Given the description of an element on the screen output the (x, y) to click on. 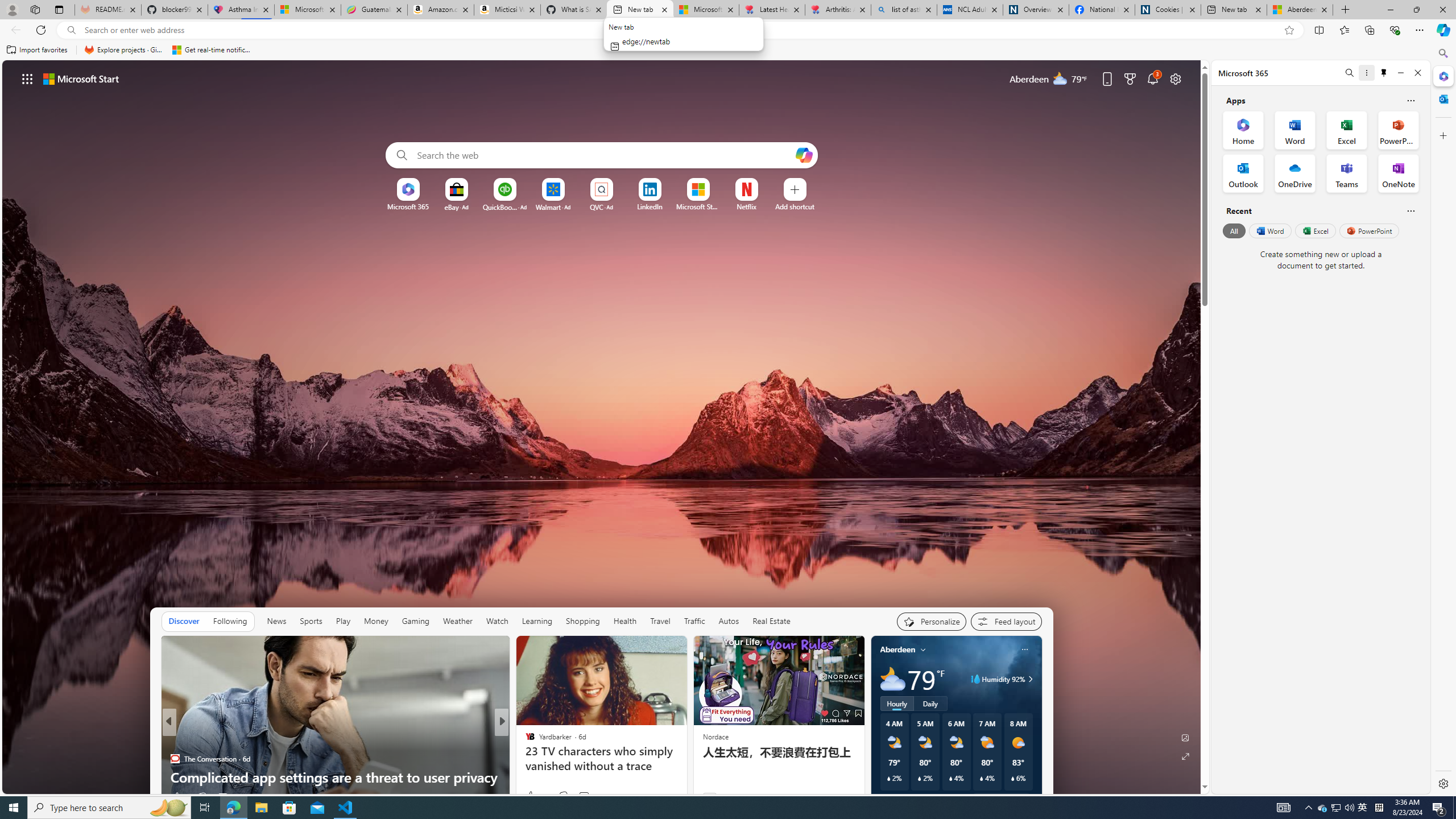
3 ways Outlook on Mac puts Outlook on Windows to shame (684, 767)
Excel (1315, 230)
Home Office App (1243, 129)
315 Like (532, 796)
CNN (524, 740)
View comments 255 Comment (576, 797)
list of asthma inhalers uk - Search (904, 9)
Weather (457, 621)
